Given the description of an element on the screen output the (x, y) to click on. 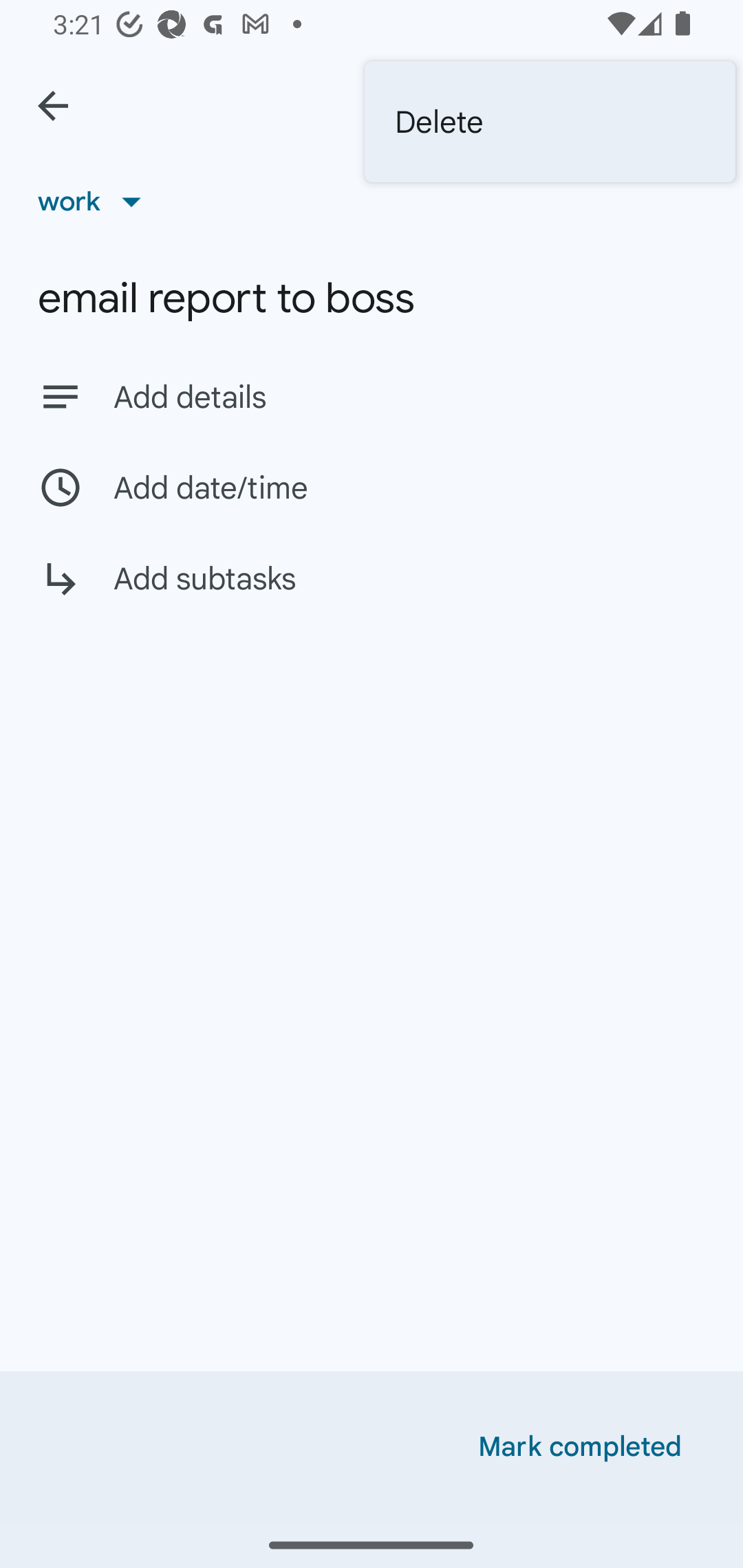
Delete (549, 121)
